Given the description of an element on the screen output the (x, y) to click on. 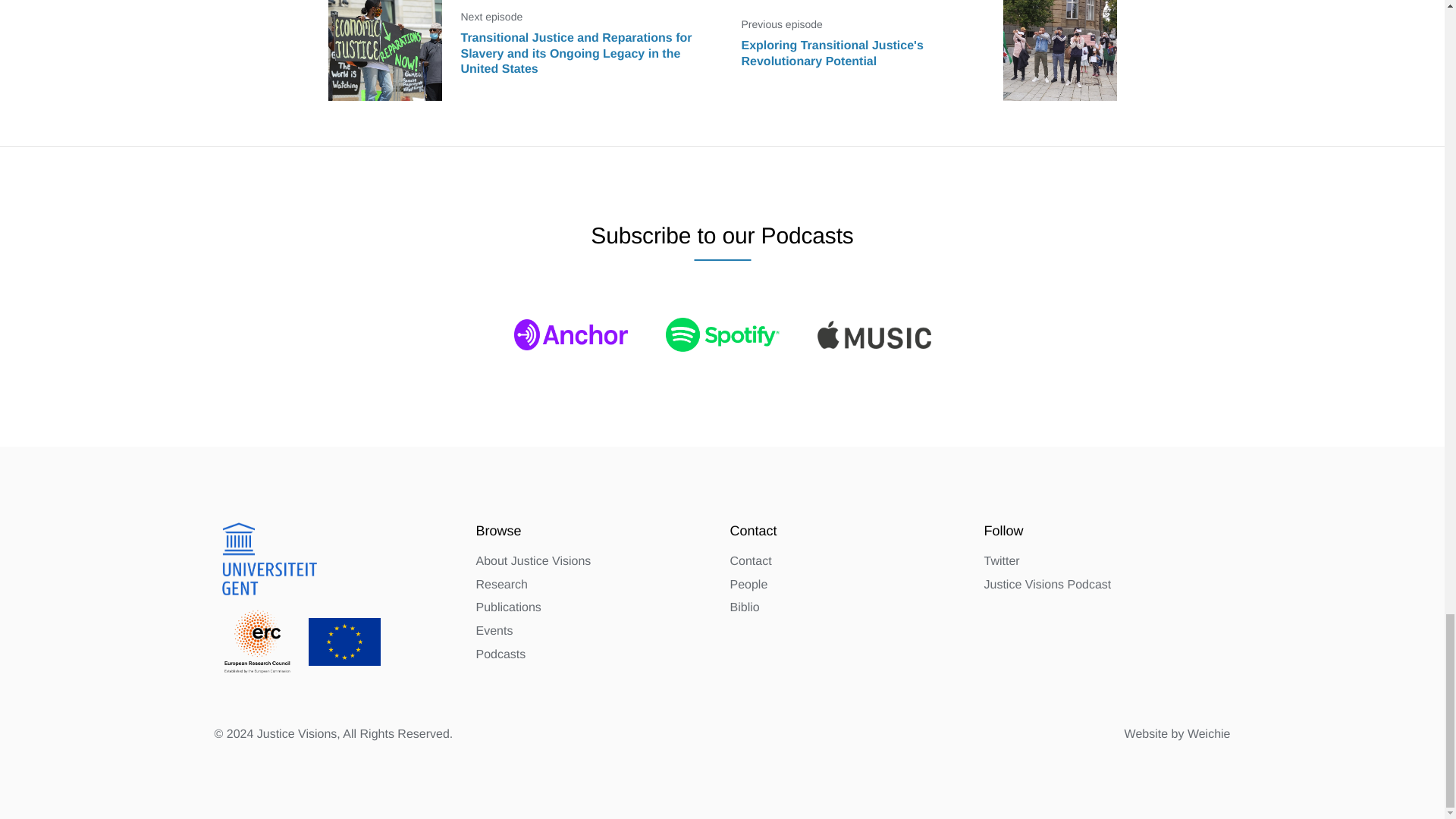
About Justice Visions (533, 562)
Research (501, 585)
Events (494, 631)
Publications (508, 608)
Podcasts (500, 655)
